Given the description of an element on the screen output the (x, y) to click on. 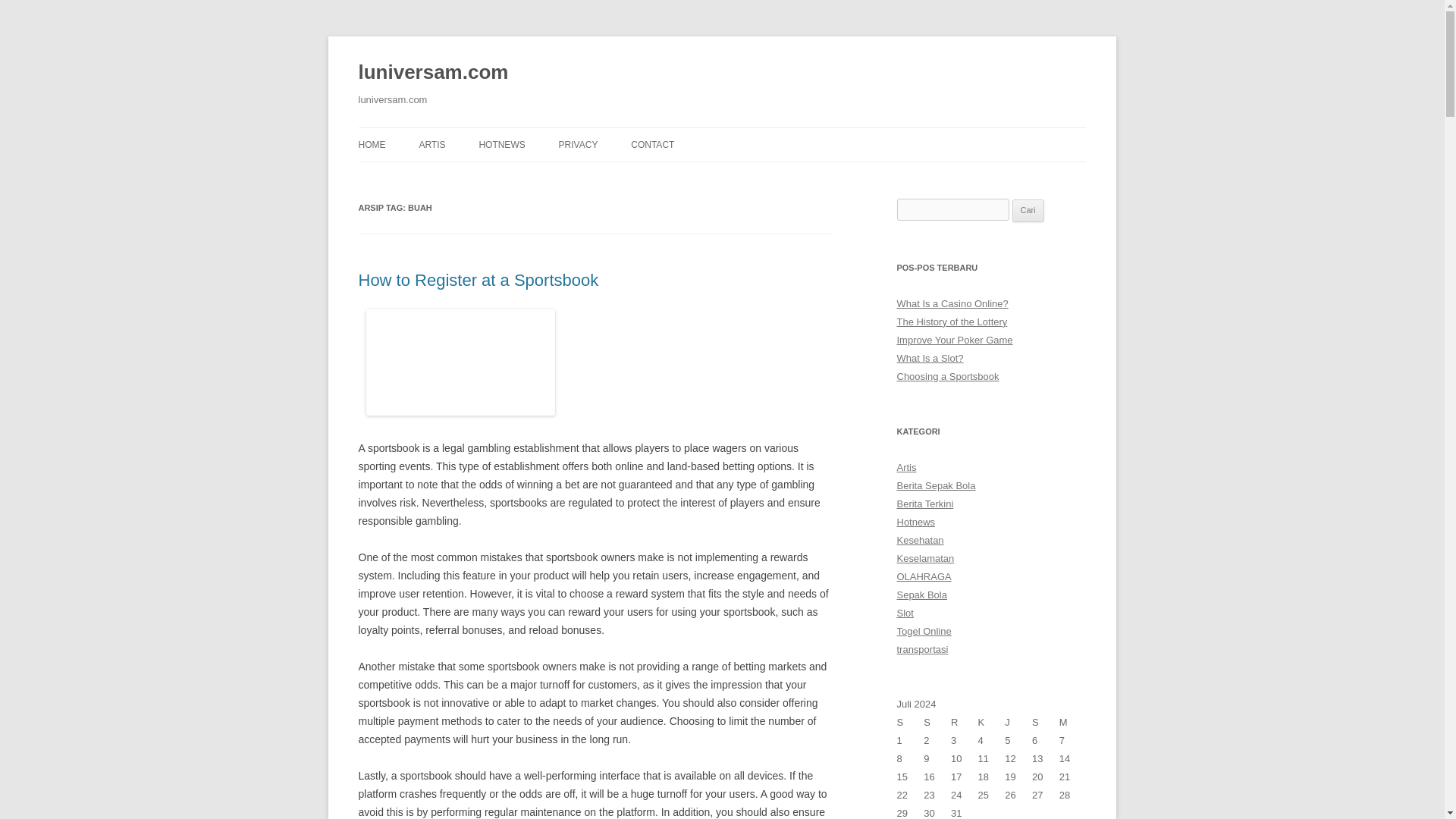
PRIVACY (578, 144)
Jumat (1018, 722)
Kamis (992, 722)
Selasa (936, 722)
Rabu (964, 722)
luniversam.com (433, 72)
HOTNEWS (501, 144)
CONTACT (652, 144)
How to Register at a Sportsbook (478, 280)
luniversam.com (433, 72)
Senin (909, 722)
Cari (1027, 210)
